Given the description of an element on the screen output the (x, y) to click on. 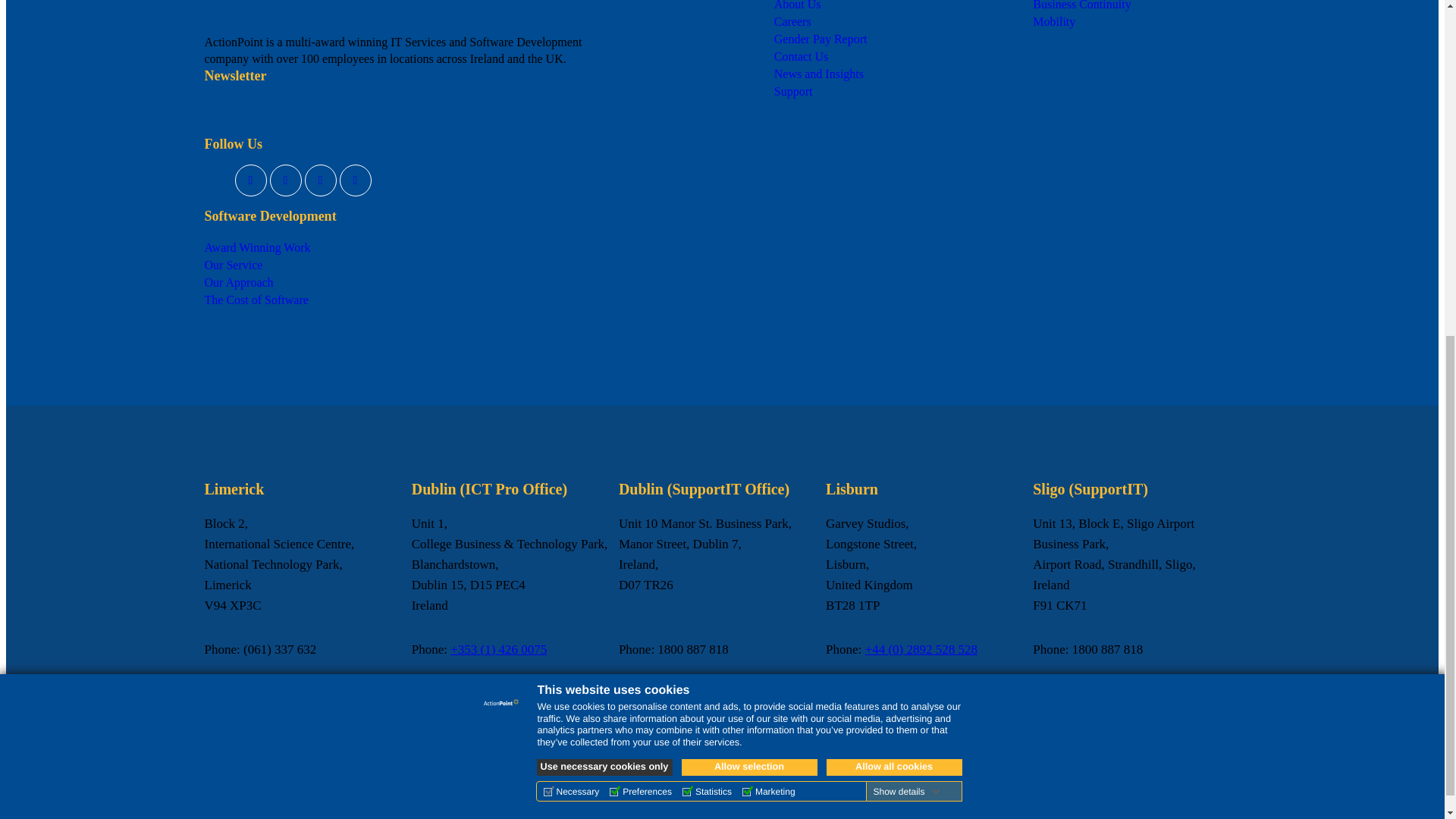
Allow all cookies (894, 187)
Allow selection (748, 187)
Show details (905, 211)
Use necessary cookies only (604, 187)
